Given the description of an element on the screen output the (x, y) to click on. 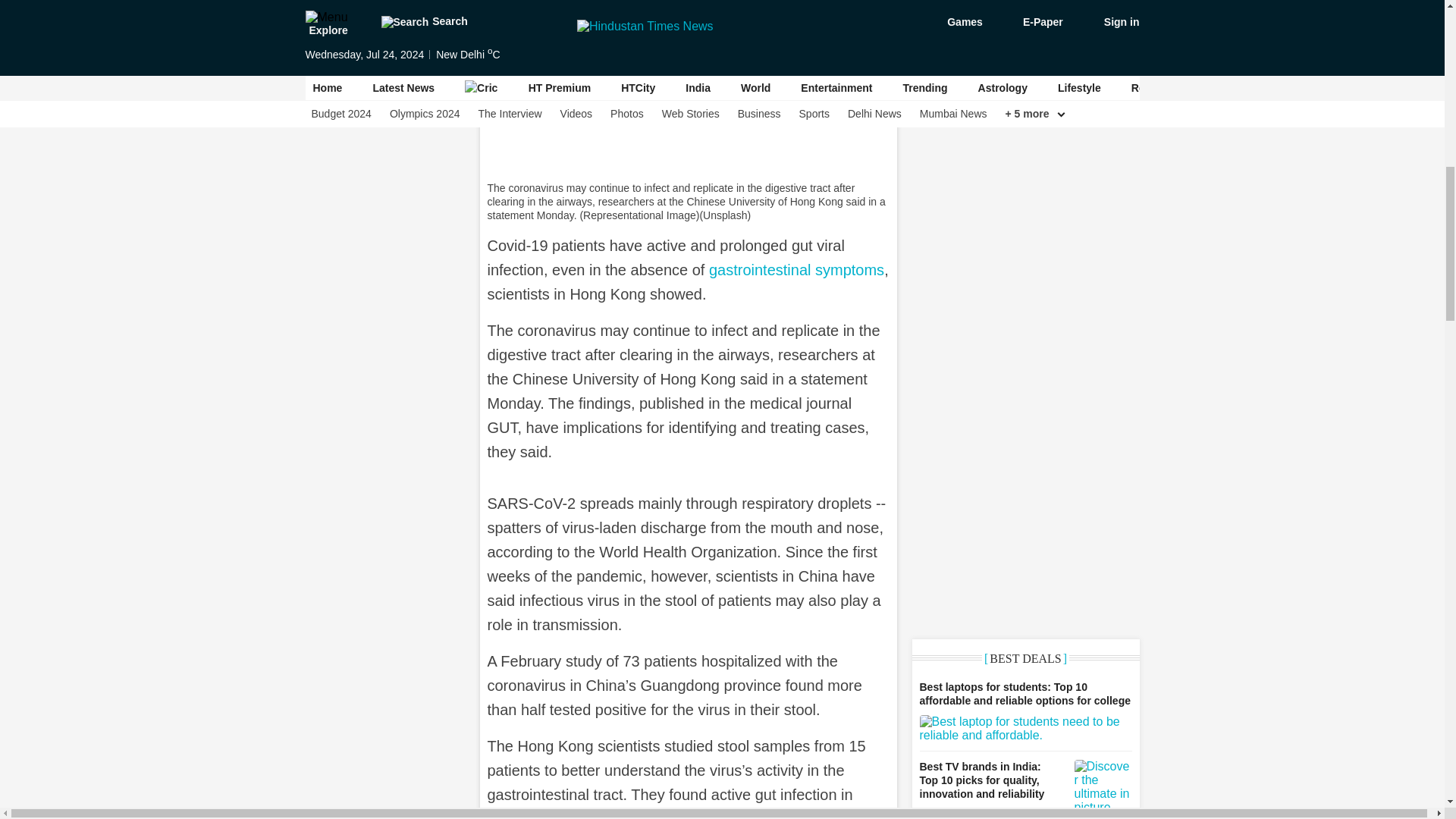
HT (796, 269)
